Given the description of an element on the screen output the (x, y) to click on. 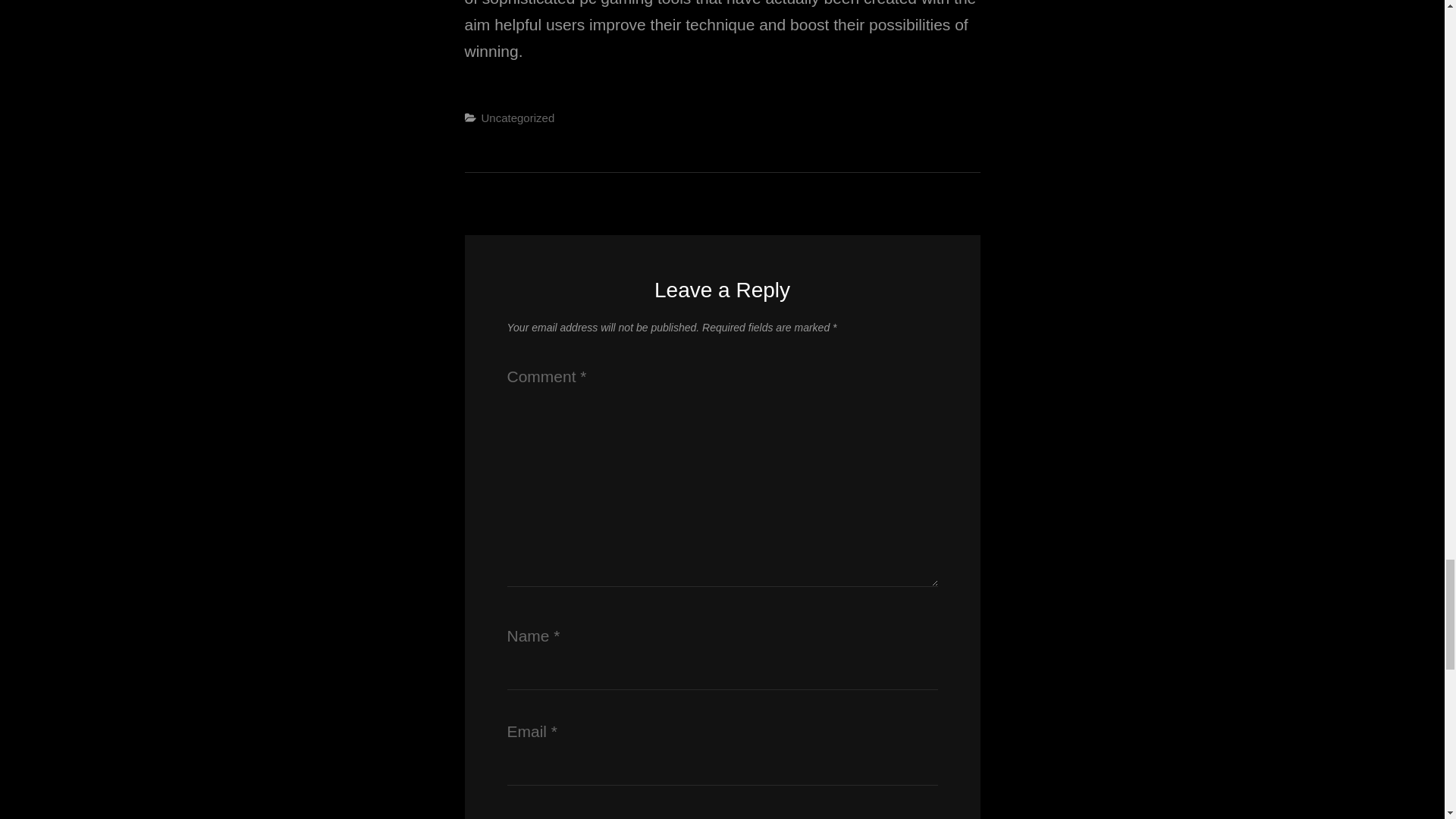
Uncategorized (517, 117)
